Given the description of an element on the screen output the (x, y) to click on. 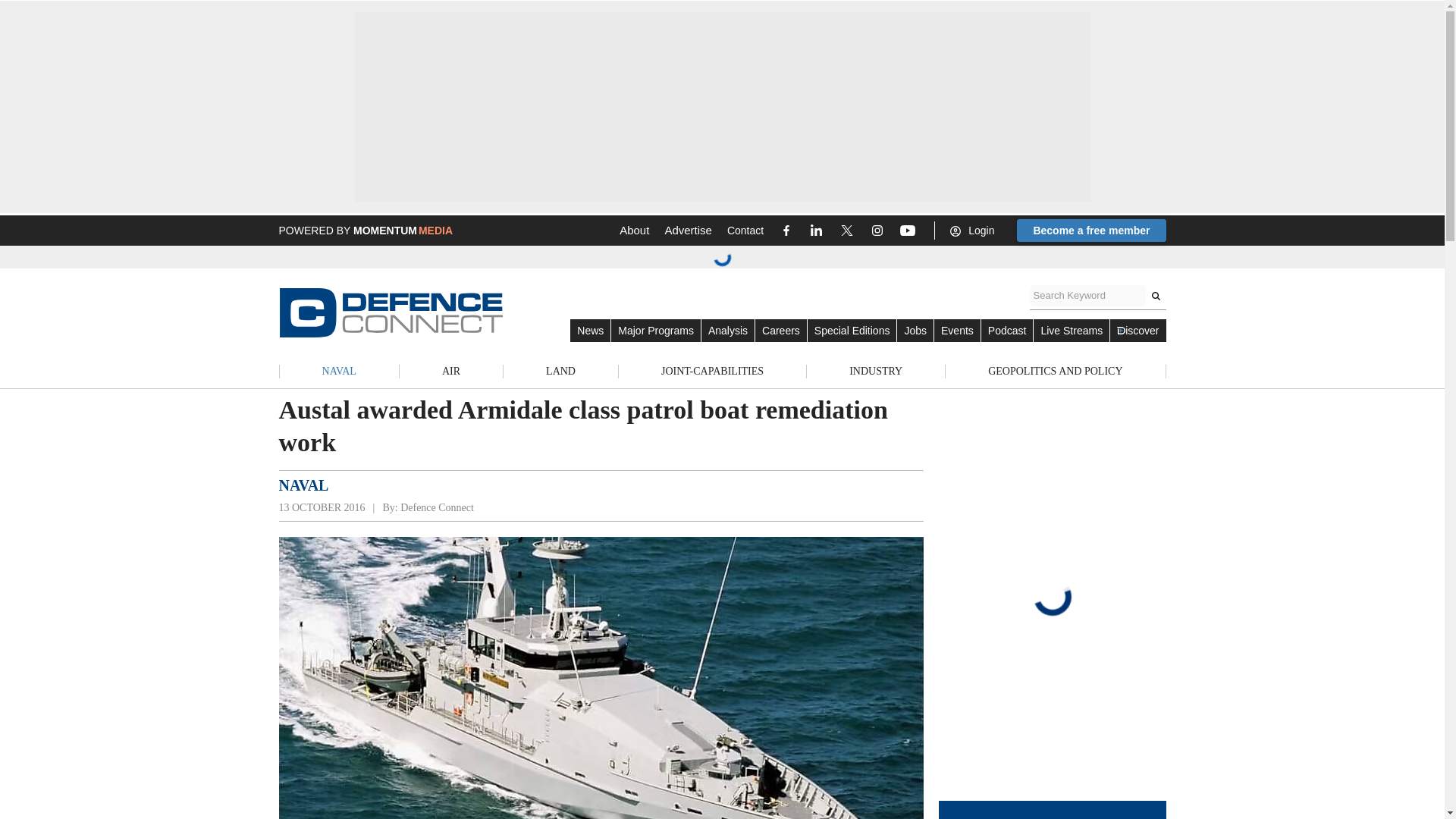
Become a free member (1091, 230)
